Given the description of an element on the screen output the (x, y) to click on. 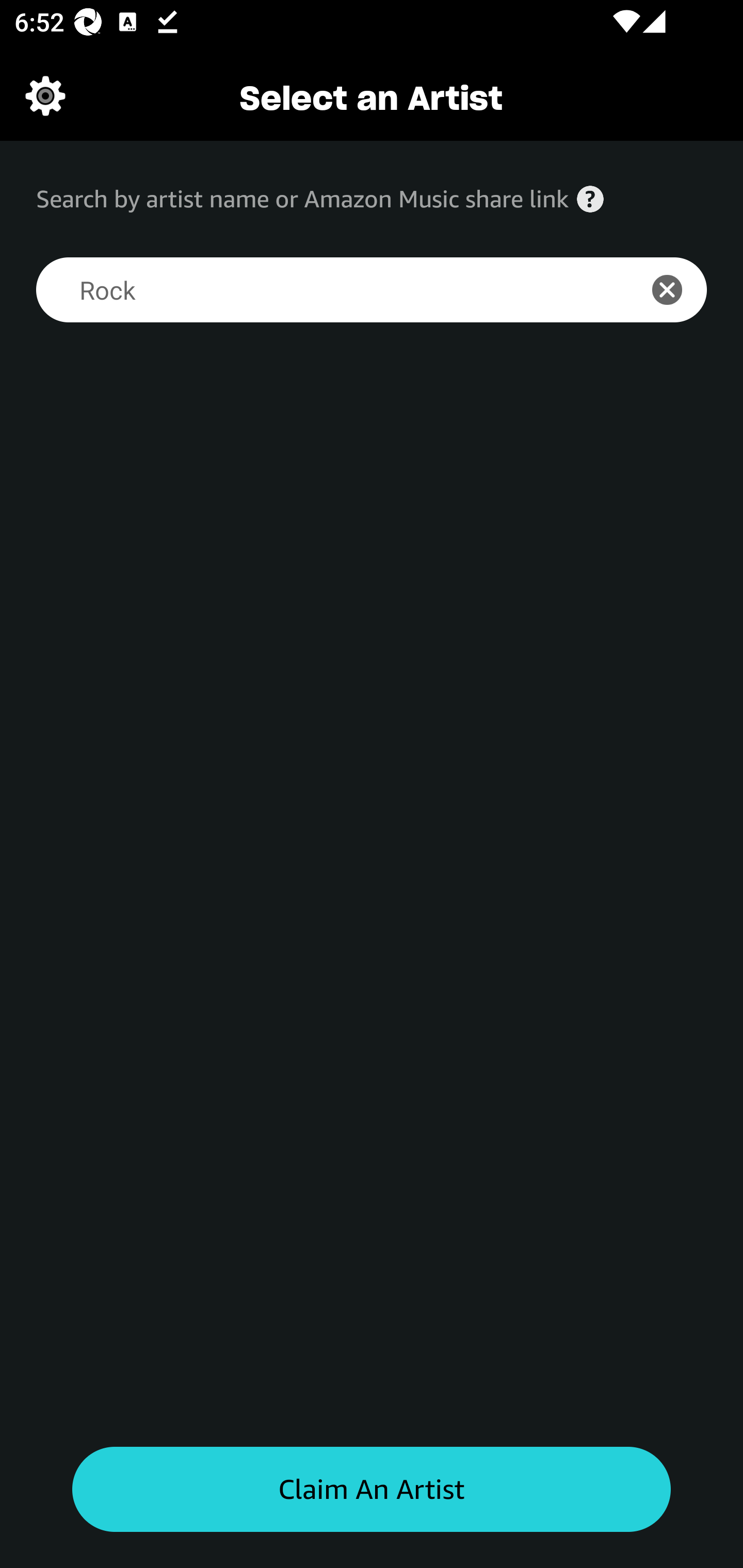
Help  icon (589, 199)
Rock Search for an artist search bar (324, 290)
 icon (677, 290)
Claim an artist button Claim An Artist (371, 1489)
